Given the description of an element on the screen output the (x, y) to click on. 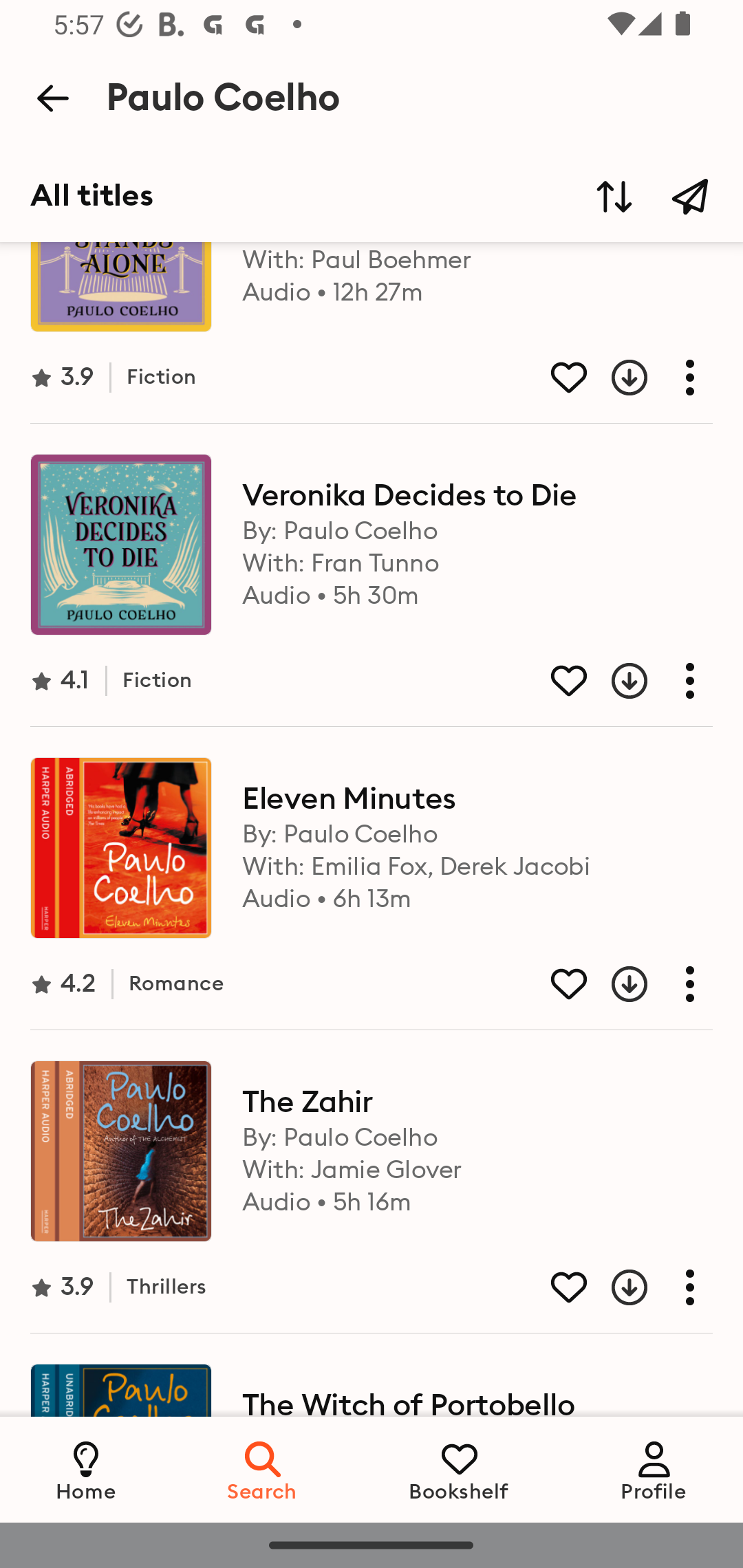
Back (52, 98)
Download (613, 377)
Download (613, 680)
Download (613, 984)
Download (613, 1286)
Home (85, 1468)
Search (262, 1468)
Bookshelf (458, 1468)
Profile (653, 1468)
